Given the description of an element on the screen output the (x, y) to click on. 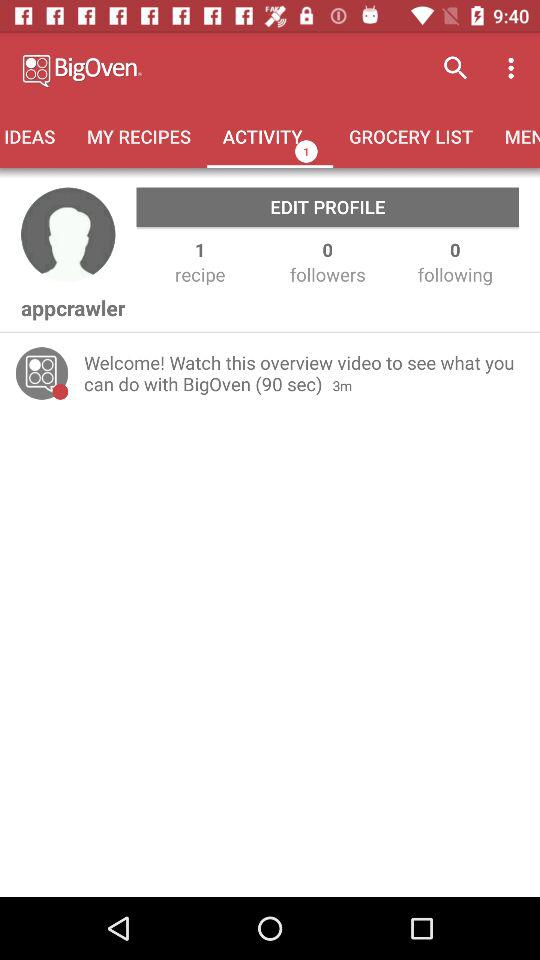
choose icon above the grocery list icon (455, 67)
